Given the description of an element on the screen output the (x, y) to click on. 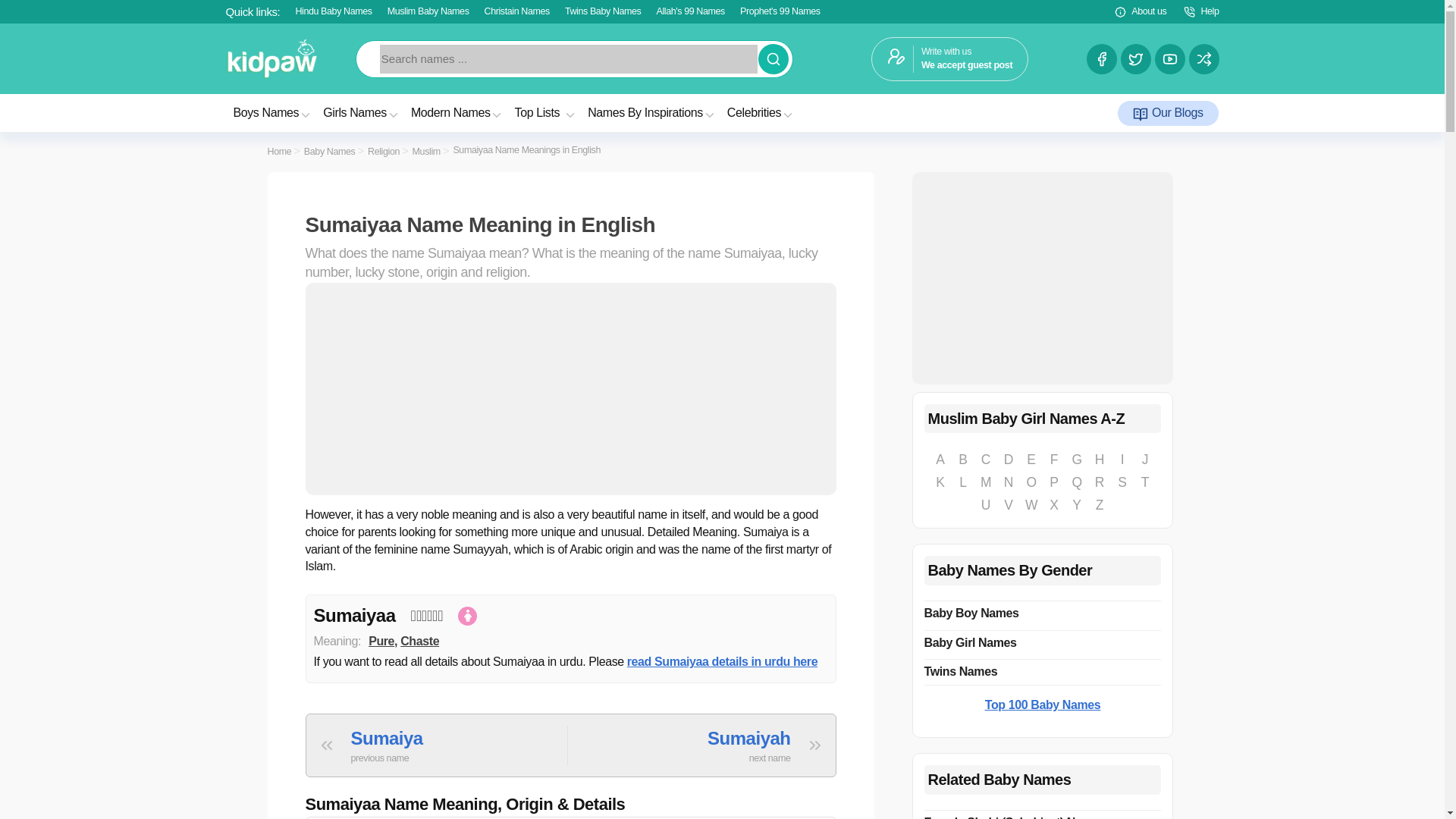
Sumaiyaa Name Meaning in English (569, 224)
Twins Baby Names (603, 11)
Sumaiyah (765, 744)
Advertisement (1042, 277)
About us (1139, 11)
Prophet's 99 Names (780, 11)
Top Lists (546, 112)
Boys Name (760, 112)
Sumaiyaa details in urdu (721, 661)
Muslim Baby Names (427, 11)
